Given the description of an element on the screen output the (x, y) to click on. 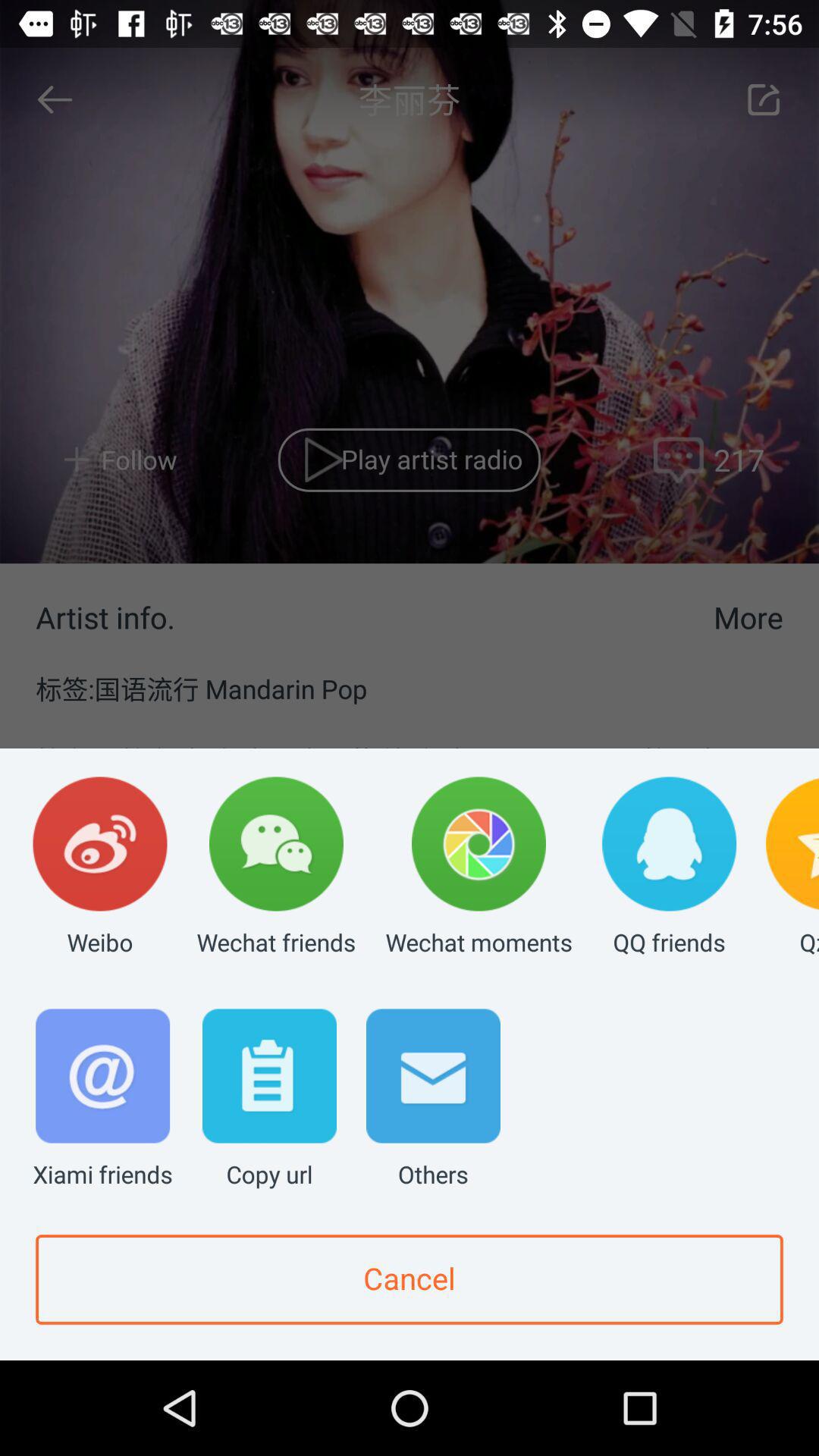
flip to the weibo (99, 867)
